Given the description of an element on the screen output the (x, y) to click on. 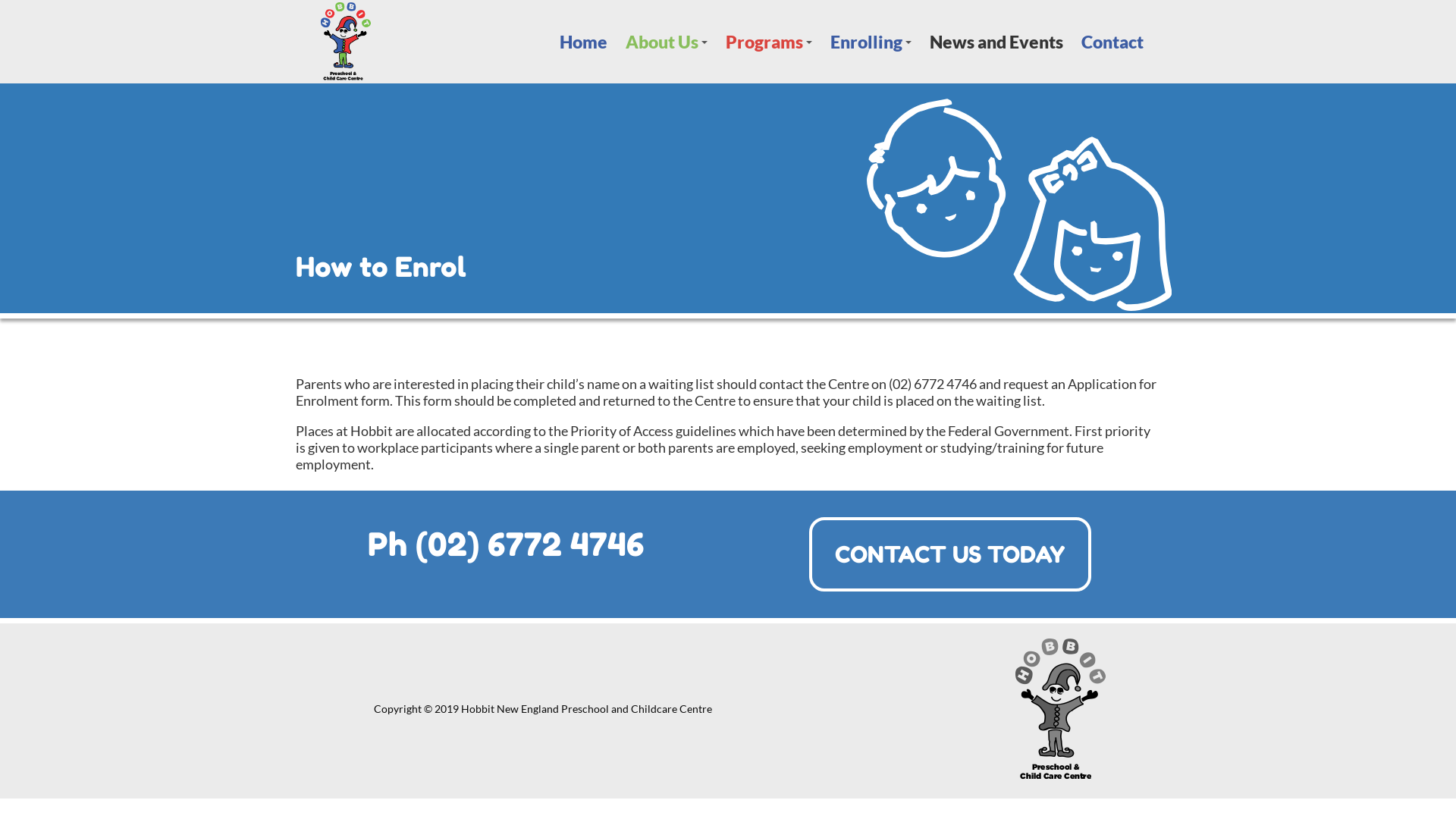
News and Events Element type: text (996, 41)
(02) 6772 4746 Element type: text (529, 543)
CONTACT US TODAY Element type: text (949, 554)
+
Programs Element type: text (768, 41)
Home Element type: text (583, 41)
+
Enrolling Element type: text (870, 41)
Skip to content Element type: text (0, 83)
Contact Element type: text (1112, 41)
+
About Us Element type: text (666, 41)
